Given the description of an element on the screen output the (x, y) to click on. 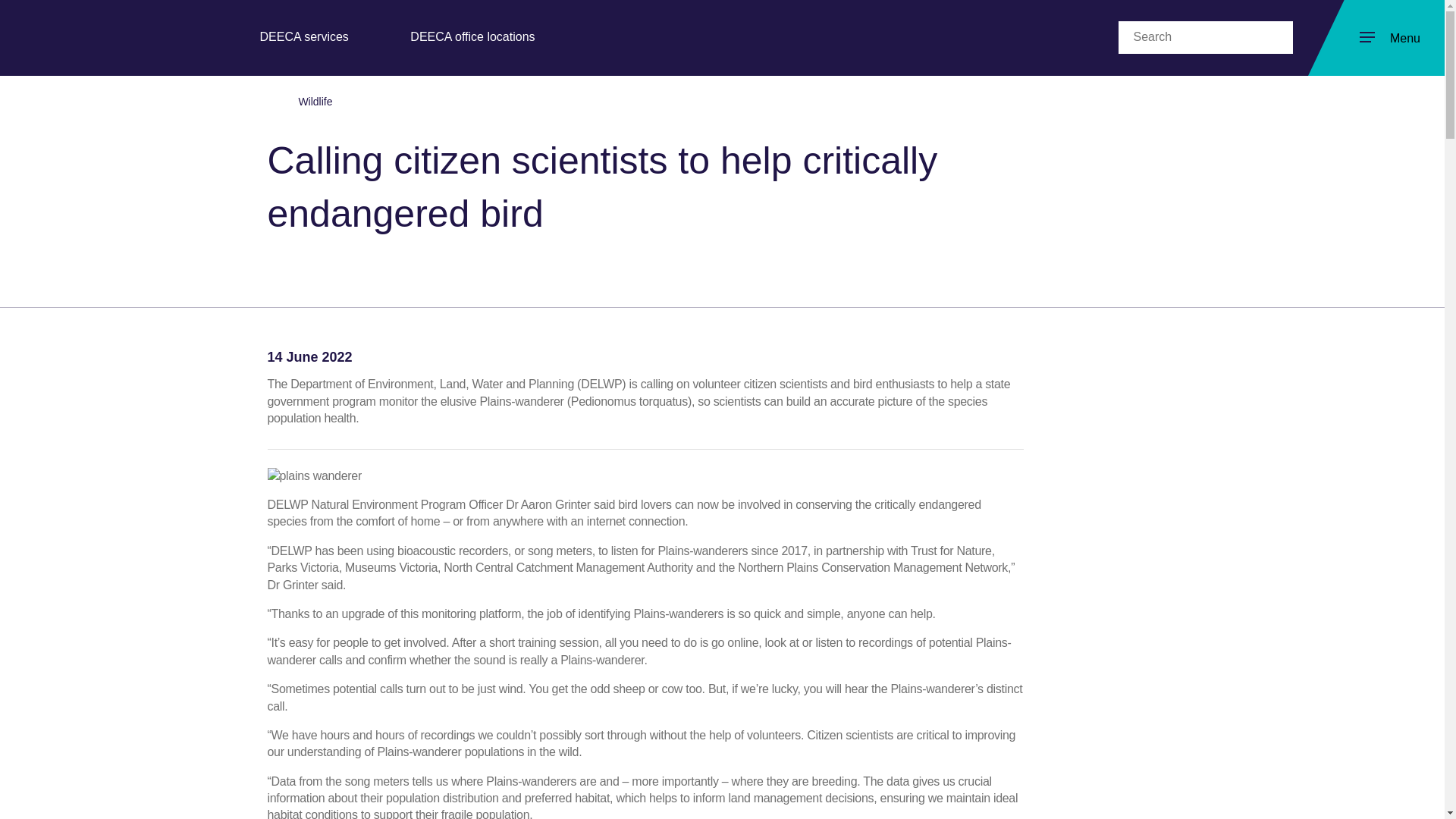
Search (1188, 37)
Home - Wildlife (96, 36)
